Given the description of an element on the screen output the (x, y) to click on. 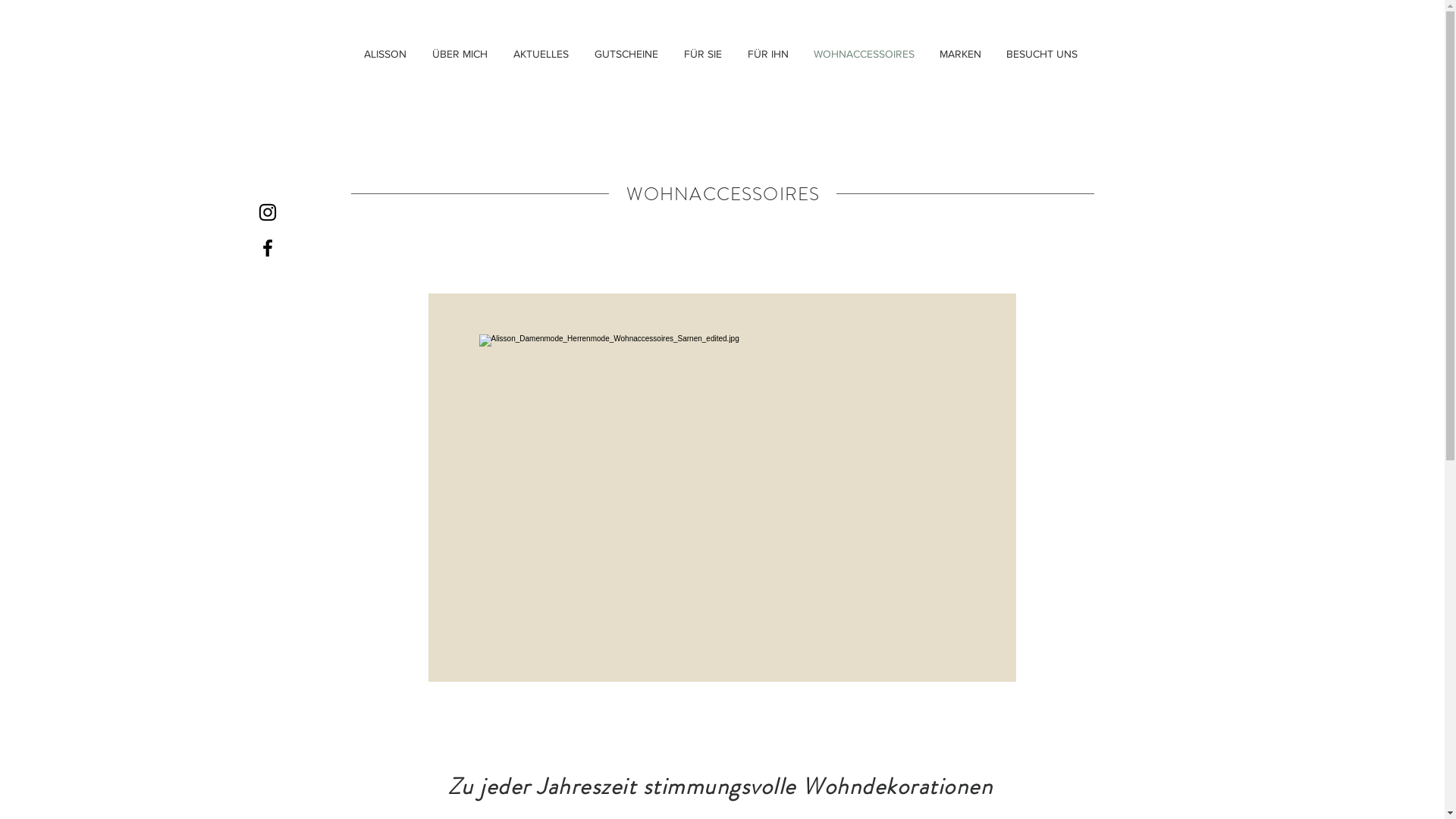
ALISSON Element type: text (384, 53)
BESUCHT UNS Element type: text (1041, 53)
AKTUELLES Element type: text (540, 53)
MARKEN Element type: text (959, 53)
GUTSCHEINE Element type: text (625, 53)
WOHNACCESSOIRES Element type: text (863, 53)
